Given the description of an element on the screen output the (x, y) to click on. 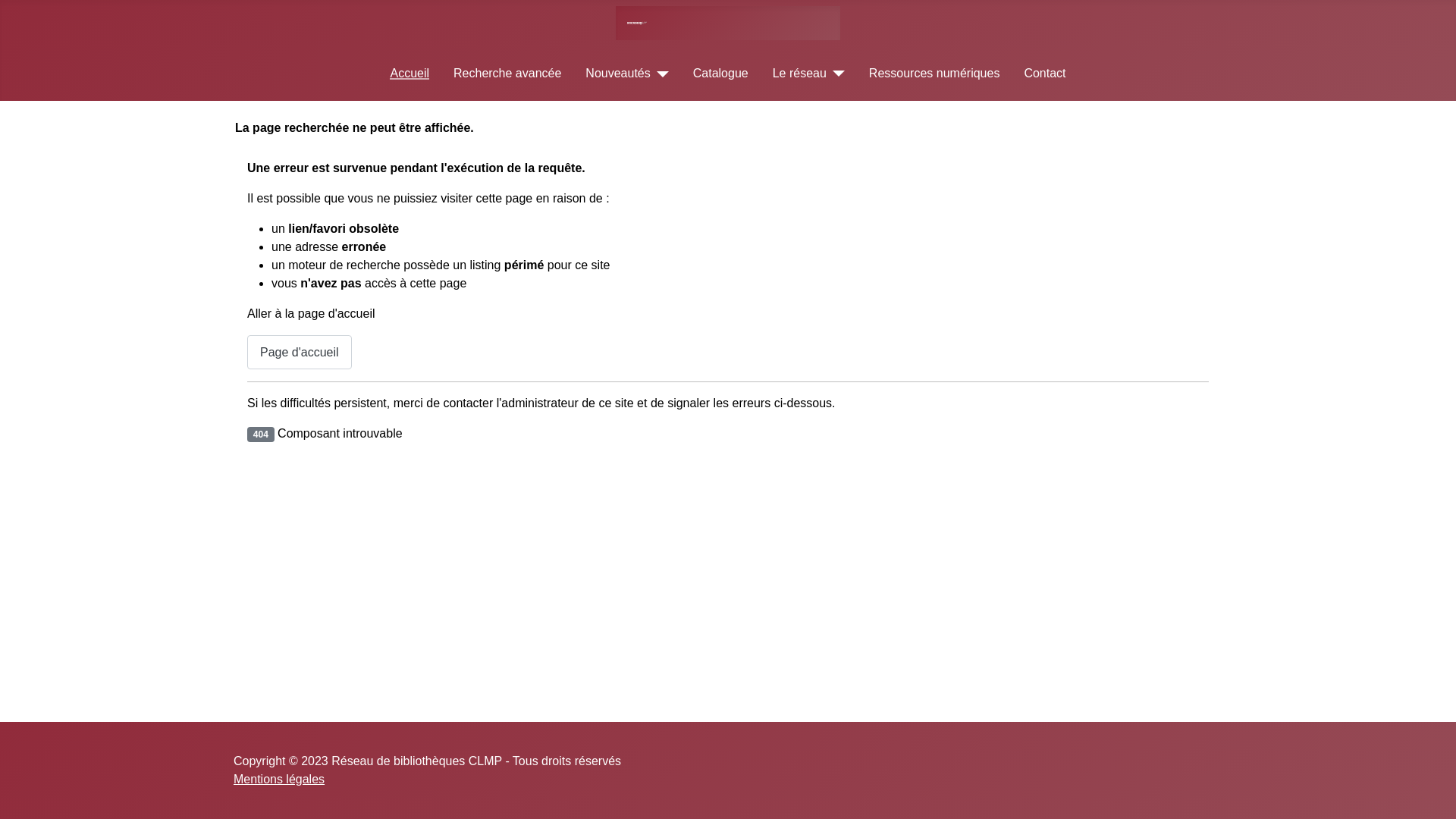
Catalogue Element type: text (720, 72)
Contact Element type: text (1044, 72)
Accueil Element type: text (409, 72)
Page d'accueil Element type: text (299, 352)
